Given the description of an element on the screen output the (x, y) to click on. 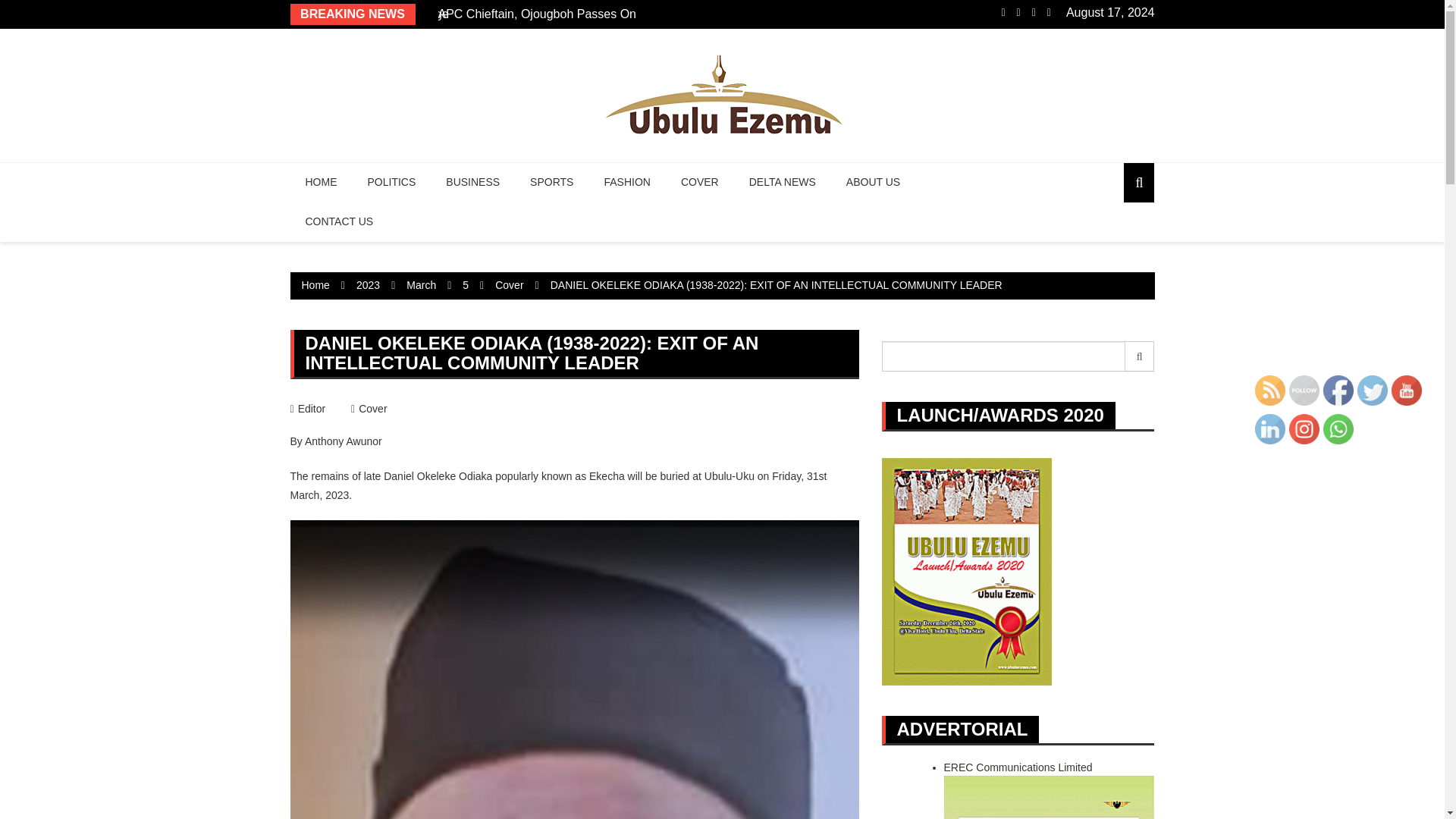
HOME (320, 182)
BUSINESS (472, 182)
March (420, 285)
Instagram (1303, 429)
Home (315, 285)
YouTube (1406, 390)
APC Chieftain, Ojougboh Passes On (537, 13)
ABOUT US (873, 182)
DELTA NEWS (782, 182)
CONTACT US (338, 221)
